Given the description of an element on the screen output the (x, y) to click on. 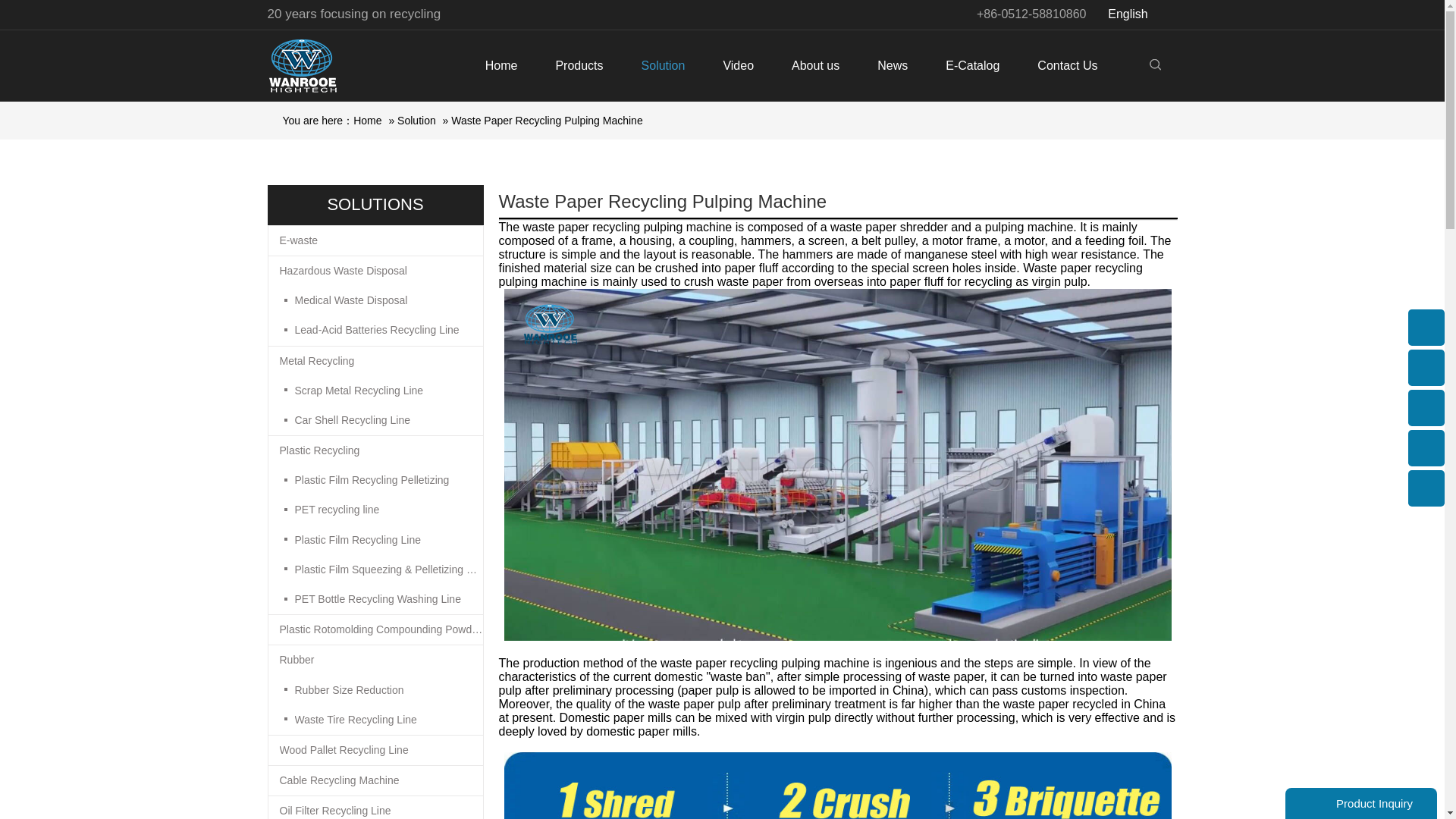
Products (578, 65)
Solution (663, 65)
English (1138, 14)
waste paper recycling pulping machine process (837, 785)
Home (501, 65)
